Given the description of an element on the screen output the (x, y) to click on. 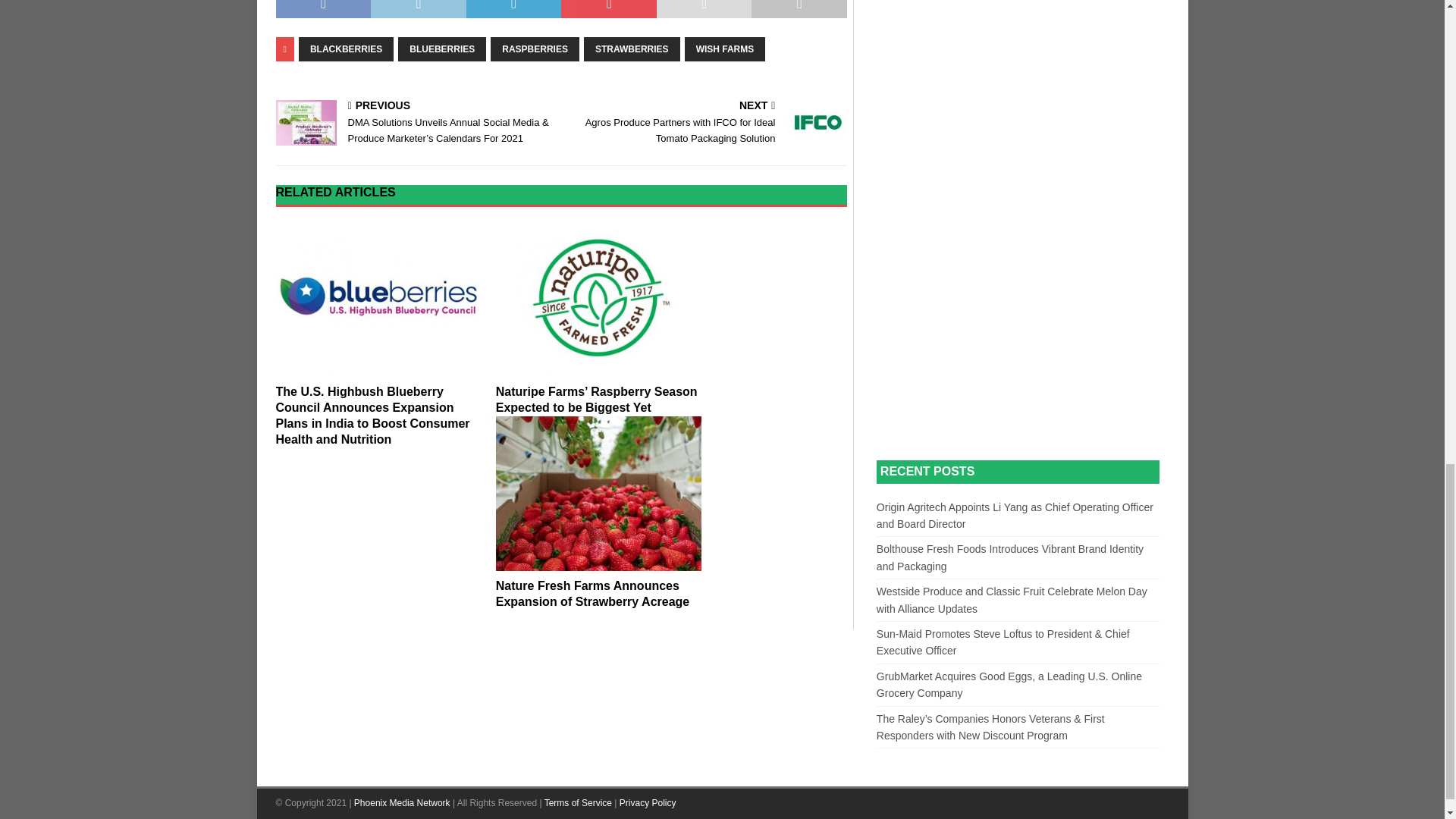
Nature Fresh Farms Announces Expansion of Strawberry Acreage (593, 593)
Nature Fresh Farms Announces Expansion of Strawberry Acreage (598, 493)
